Given the description of an element on the screen output the (x, y) to click on. 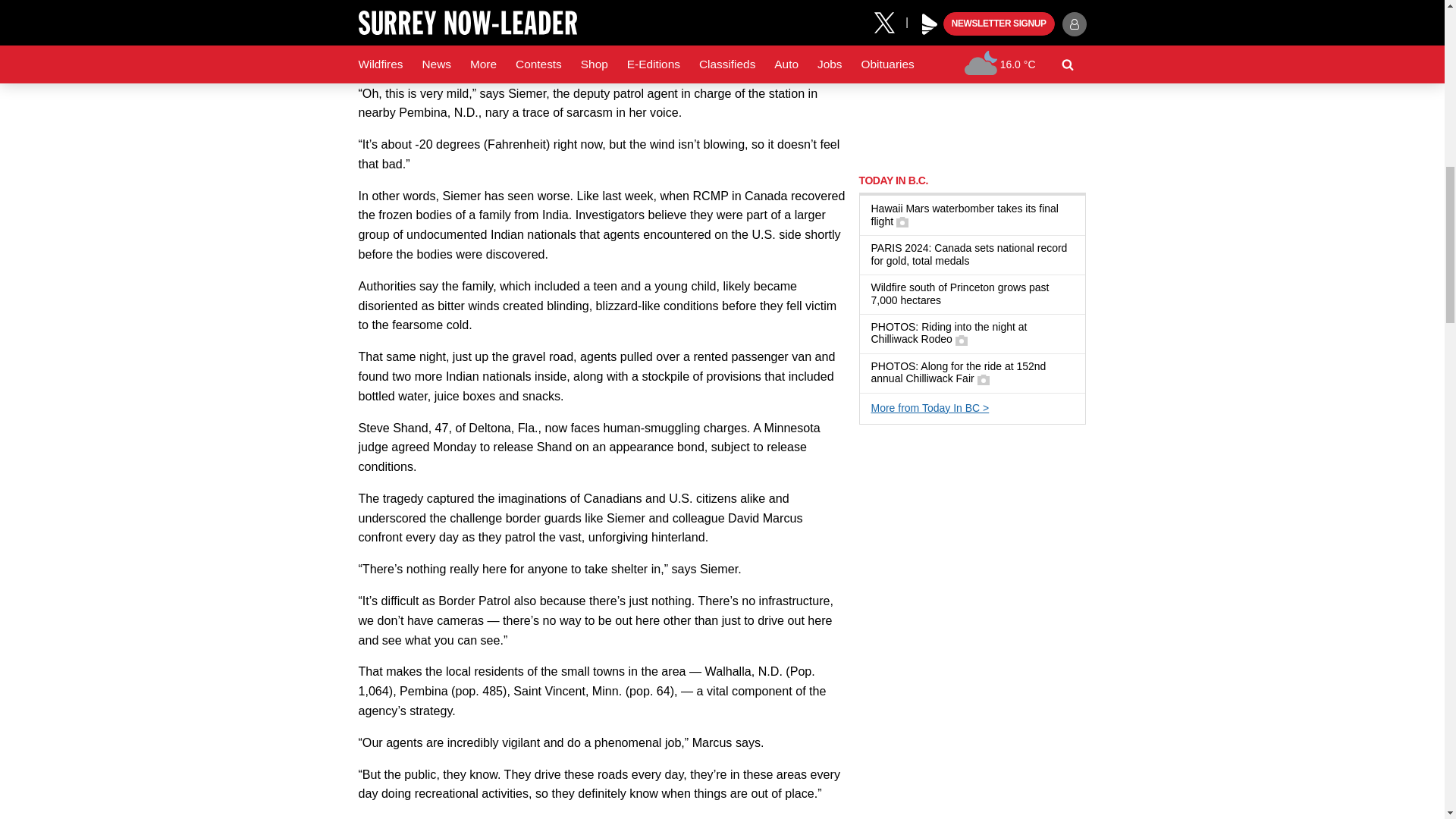
Has a gallery (961, 340)
Has a gallery (902, 222)
Has a gallery (983, 379)
